Given the description of an element on the screen output the (x, y) to click on. 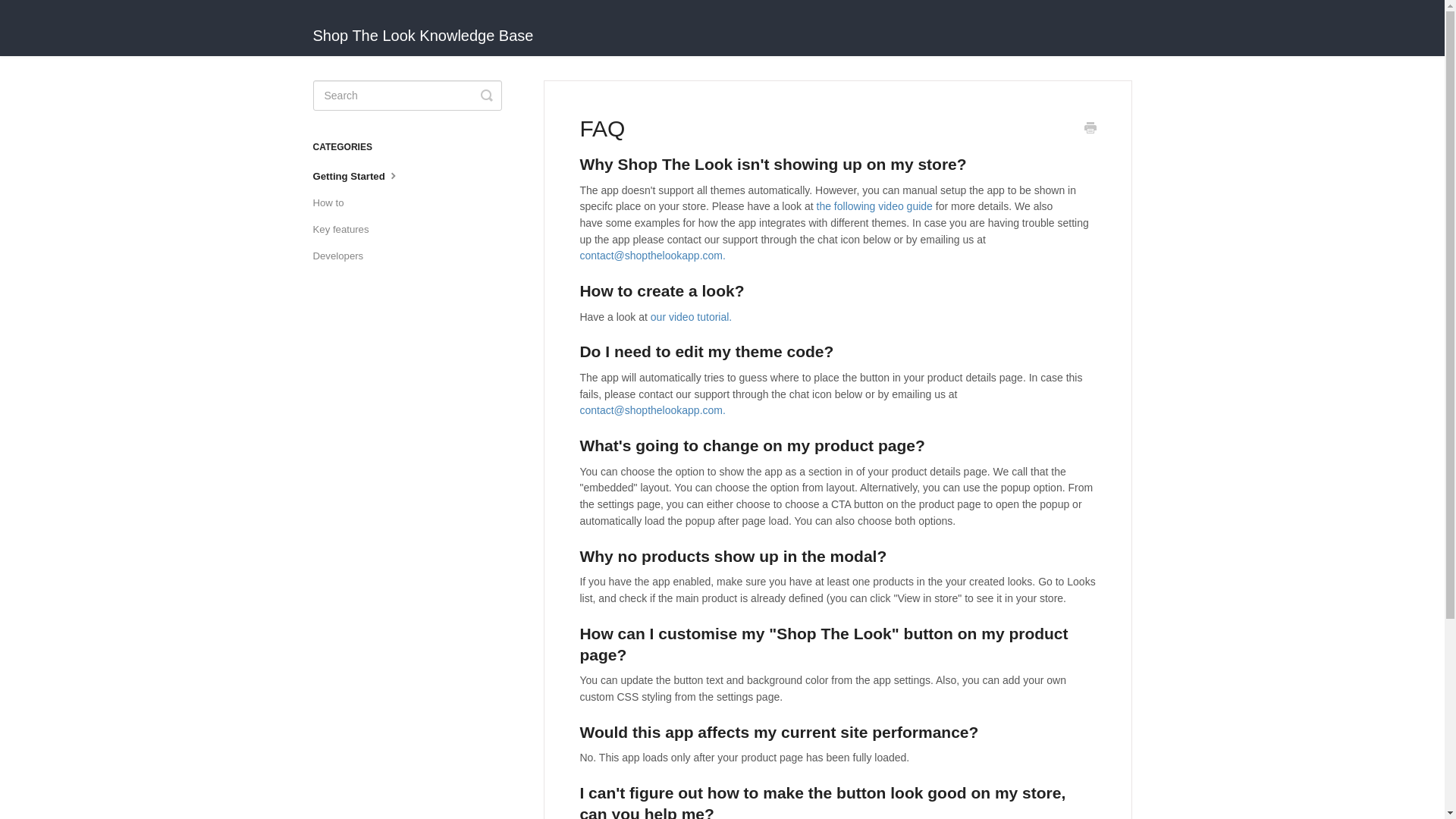
the following video guide (874, 205)
Shop The Look Knowledge Base (430, 28)
search-query (406, 95)
Getting Started (362, 176)
Developers (343, 256)
our video tutorial. (691, 316)
Key features (346, 229)
How to (334, 202)
